Given the description of an element on the screen output the (x, y) to click on. 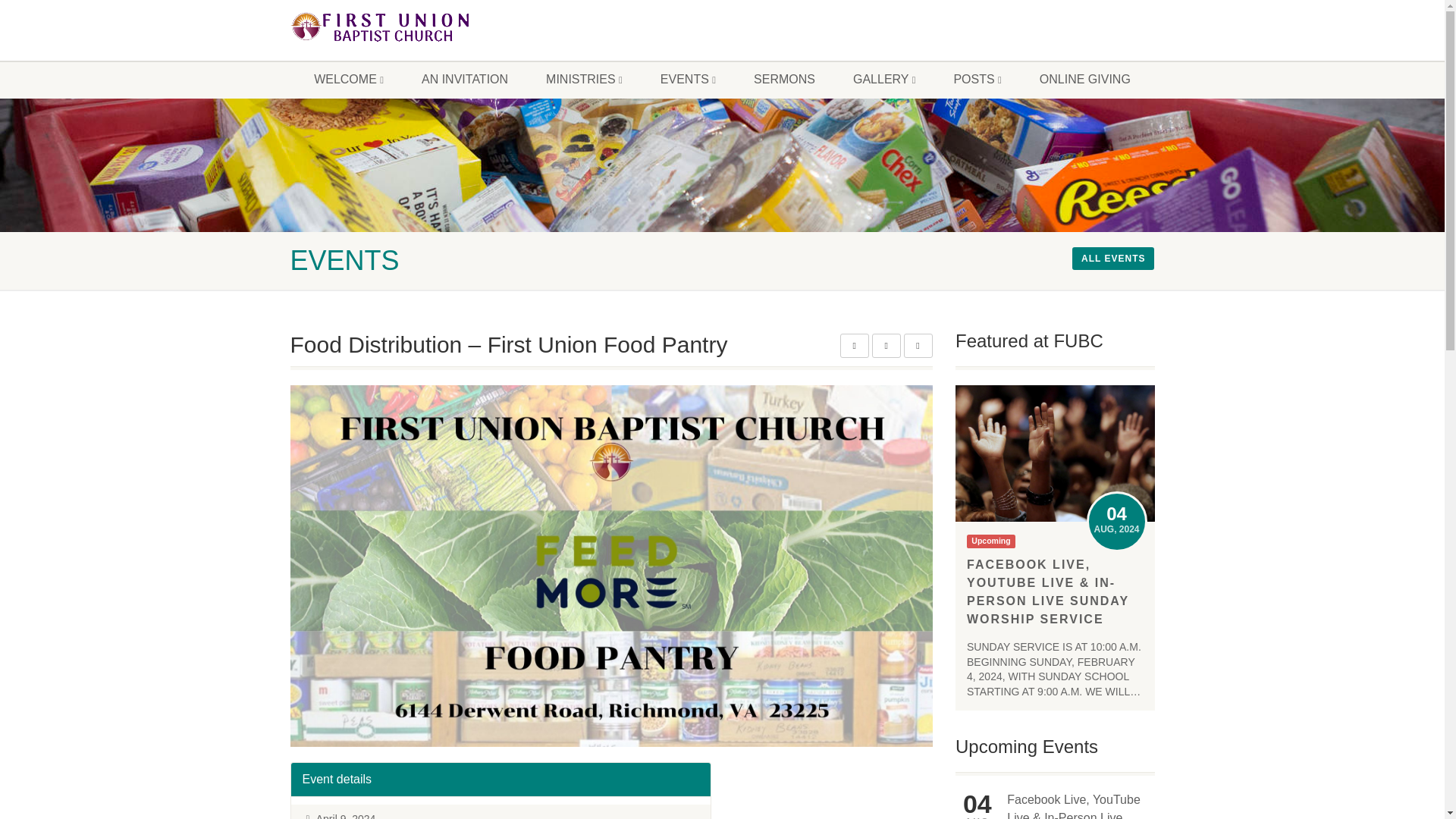
GALLERY (884, 79)
ONLINE GIVING (1085, 79)
ALL EVENTS (1112, 258)
FUBC (425, 26)
MINISTRIES (584, 79)
EVENTS (688, 79)
WELCOME (349, 79)
AN INVITATION (465, 79)
POSTS (977, 79)
SERMONS (784, 79)
